Given the description of an element on the screen output the (x, y) to click on. 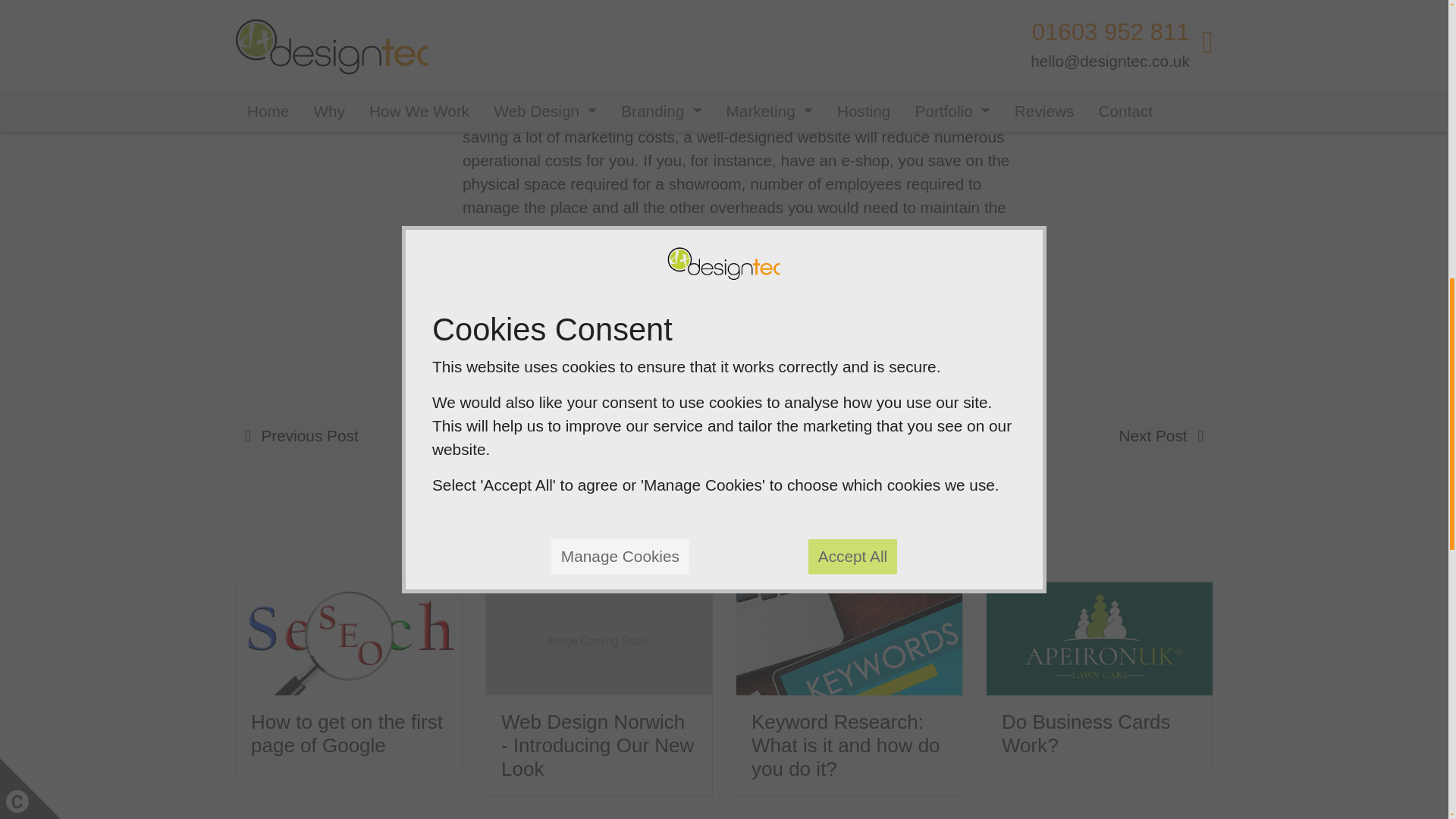
business with a website (866, 267)
Previous Post (301, 435)
